Given the description of an element on the screen output the (x, y) to click on. 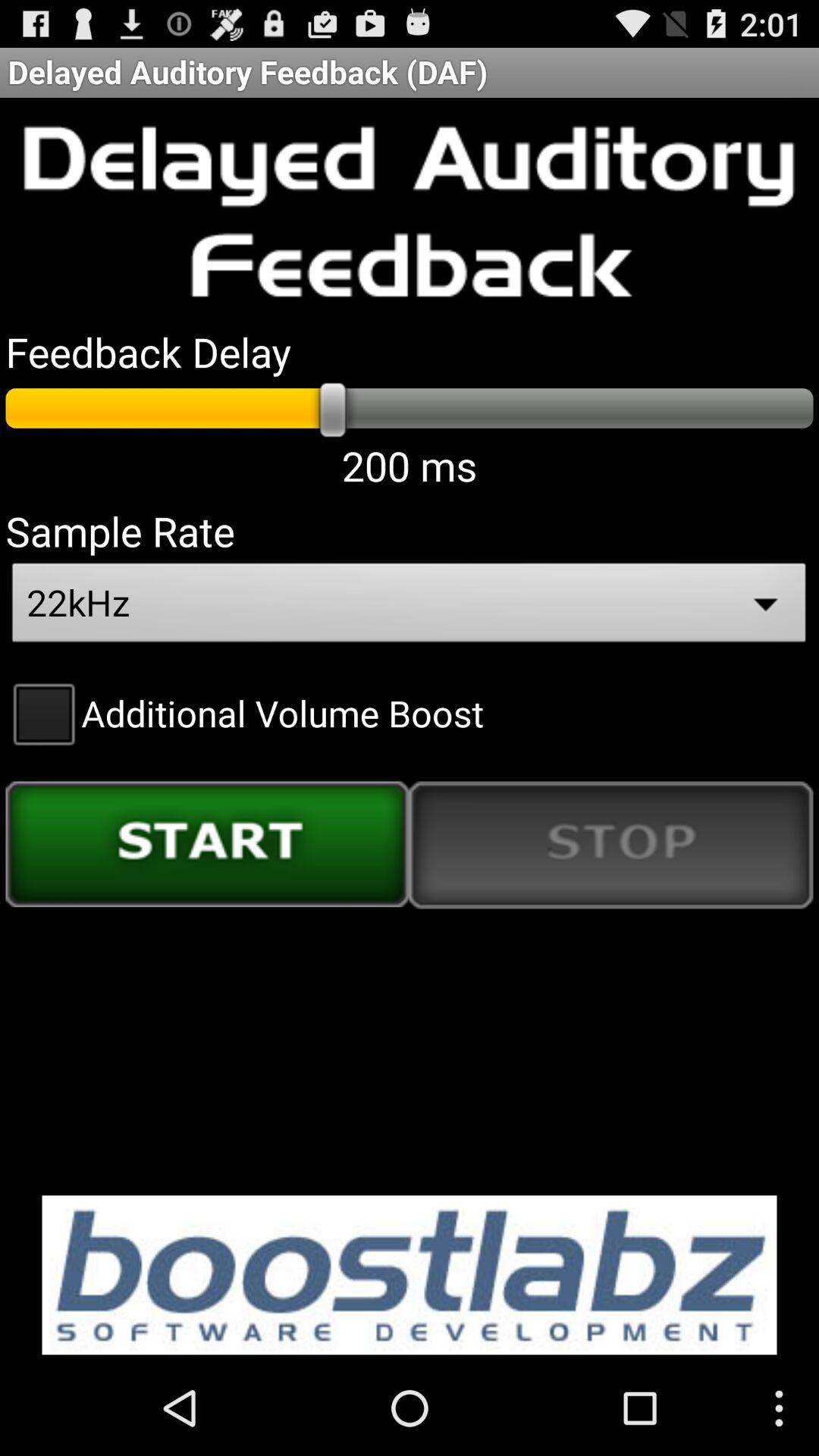
press item below the additional volume boost (611, 844)
